Given the description of an element on the screen output the (x, y) to click on. 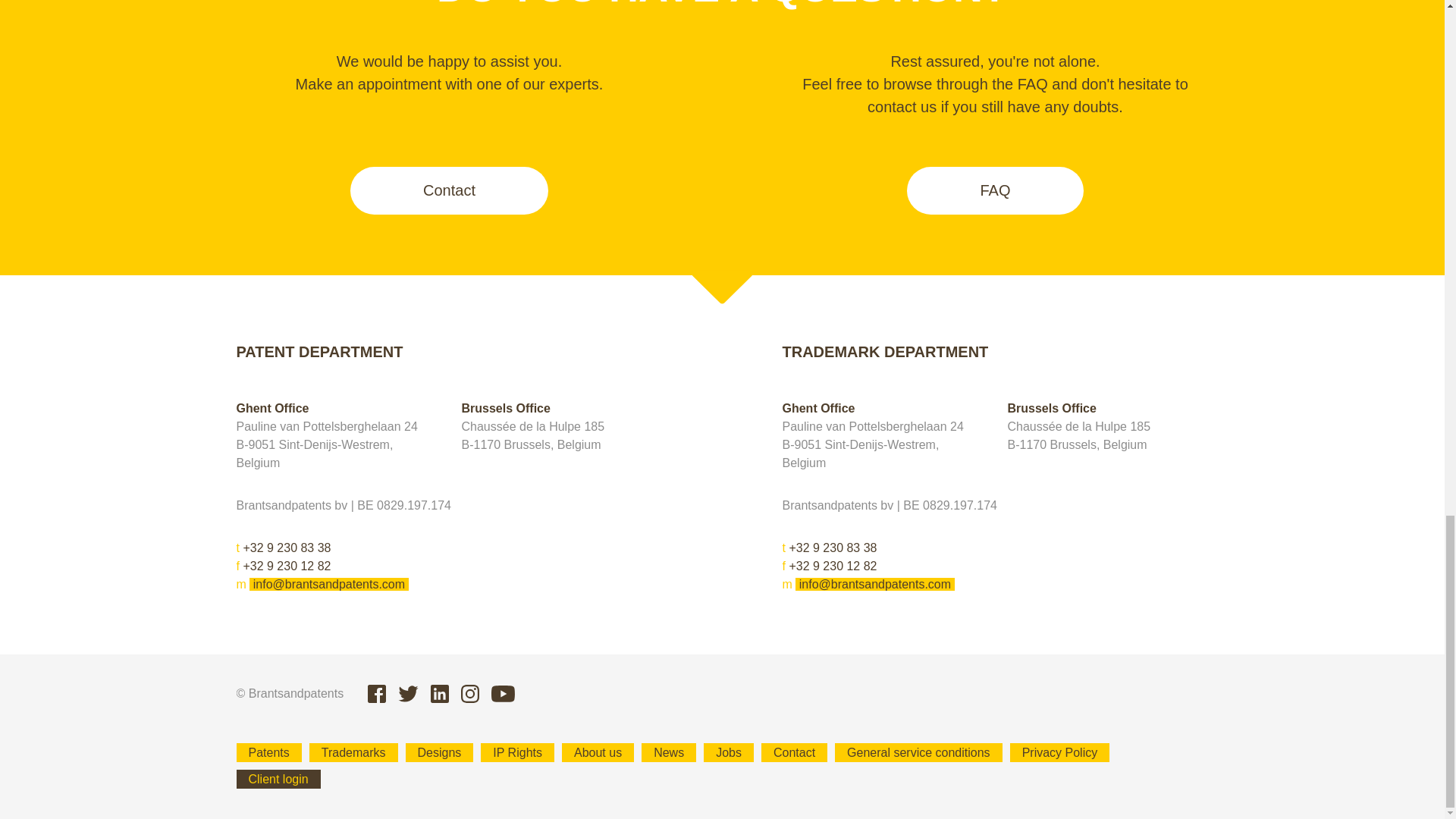
FAQ (995, 190)
Contact (449, 190)
